Given the description of an element on the screen output the (x, y) to click on. 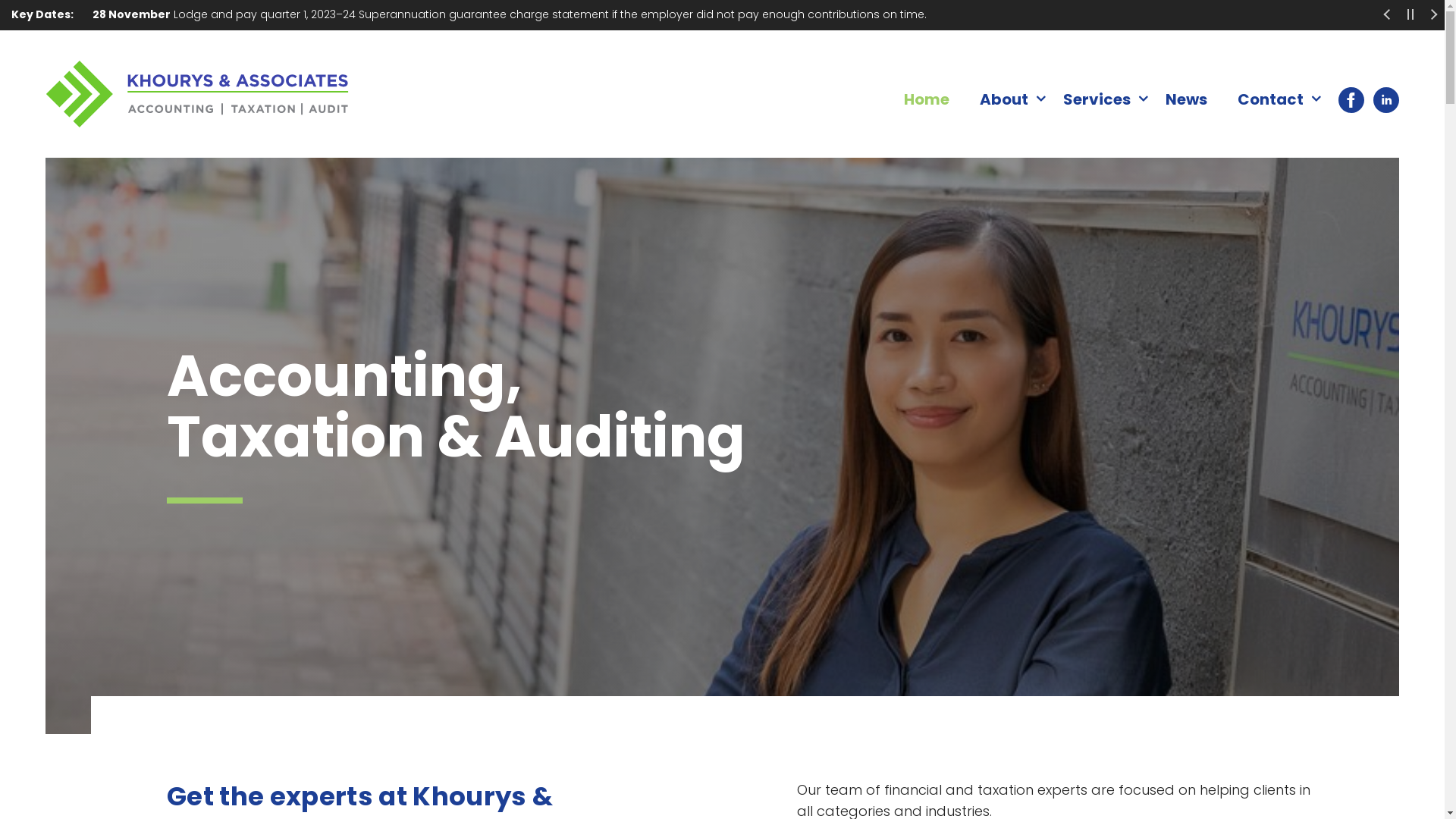
Contact Element type: text (1272, 98)
Home Element type: text (926, 98)
News Element type: text (1186, 98)
Facebook Element type: text (1343, 98)
LinkedIn Element type: text (1381, 98)
Services Element type: text (1099, 98)
About Element type: text (1006, 98)
